Given the description of an element on the screen output the (x, y) to click on. 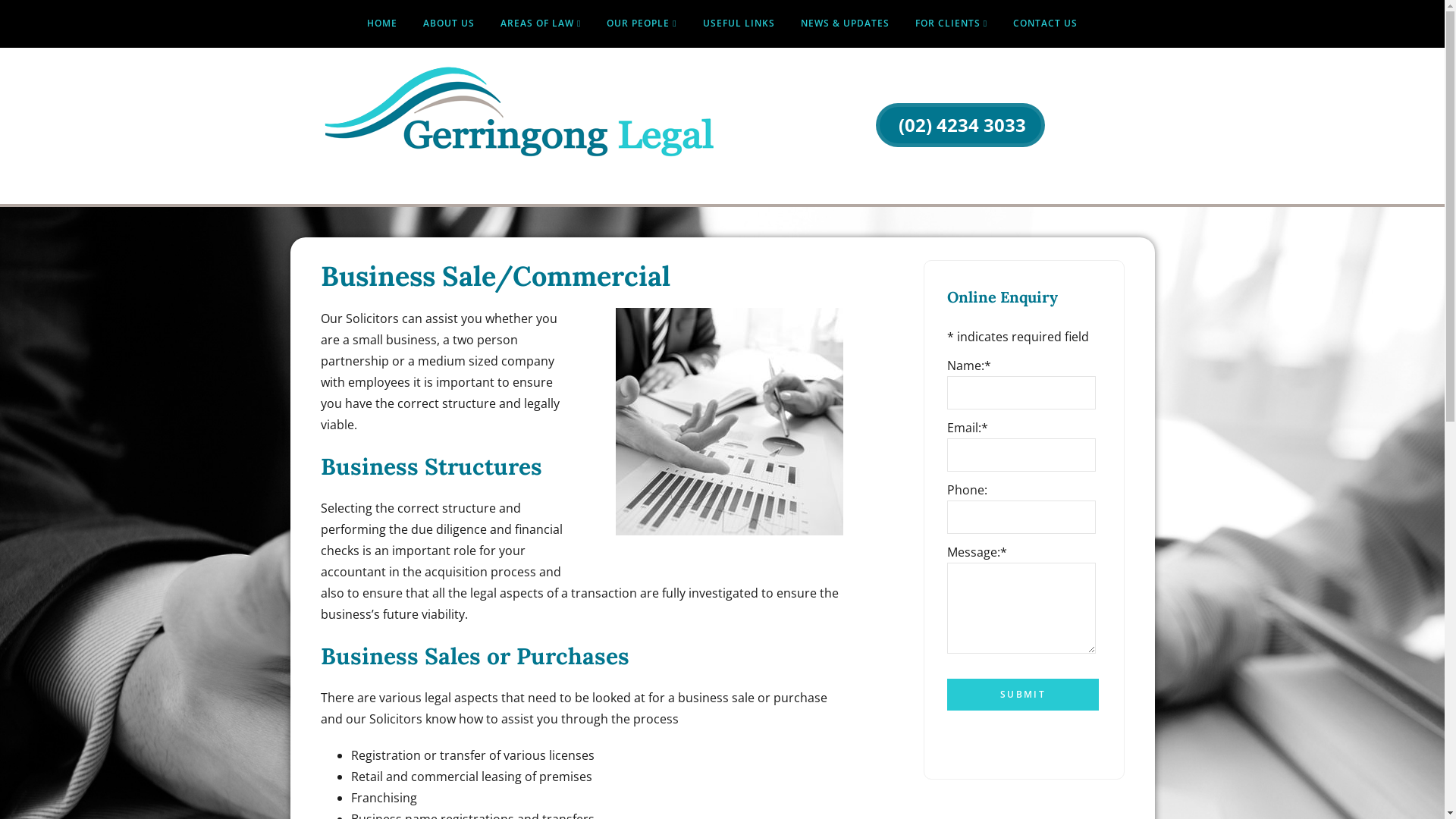
HOME Element type: text (381, 23)
ABOUT US Element type: text (448, 23)
USEFUL LINKS Element type: text (738, 23)
CONTACT US Element type: text (1044, 23)
FOR CLIENTS Element type: text (950, 23)
AREAS OF LAW Element type: text (540, 23)
OUR PEOPLE Element type: text (641, 23)
Skip to primary navigation Element type: text (0, 0)
Submit Element type: text (1022, 694)
NEWS & UPDATES Element type: text (844, 23)
(02) 4234 3033 Element type: text (959, 125)
